Given the description of an element on the screen output the (x, y) to click on. 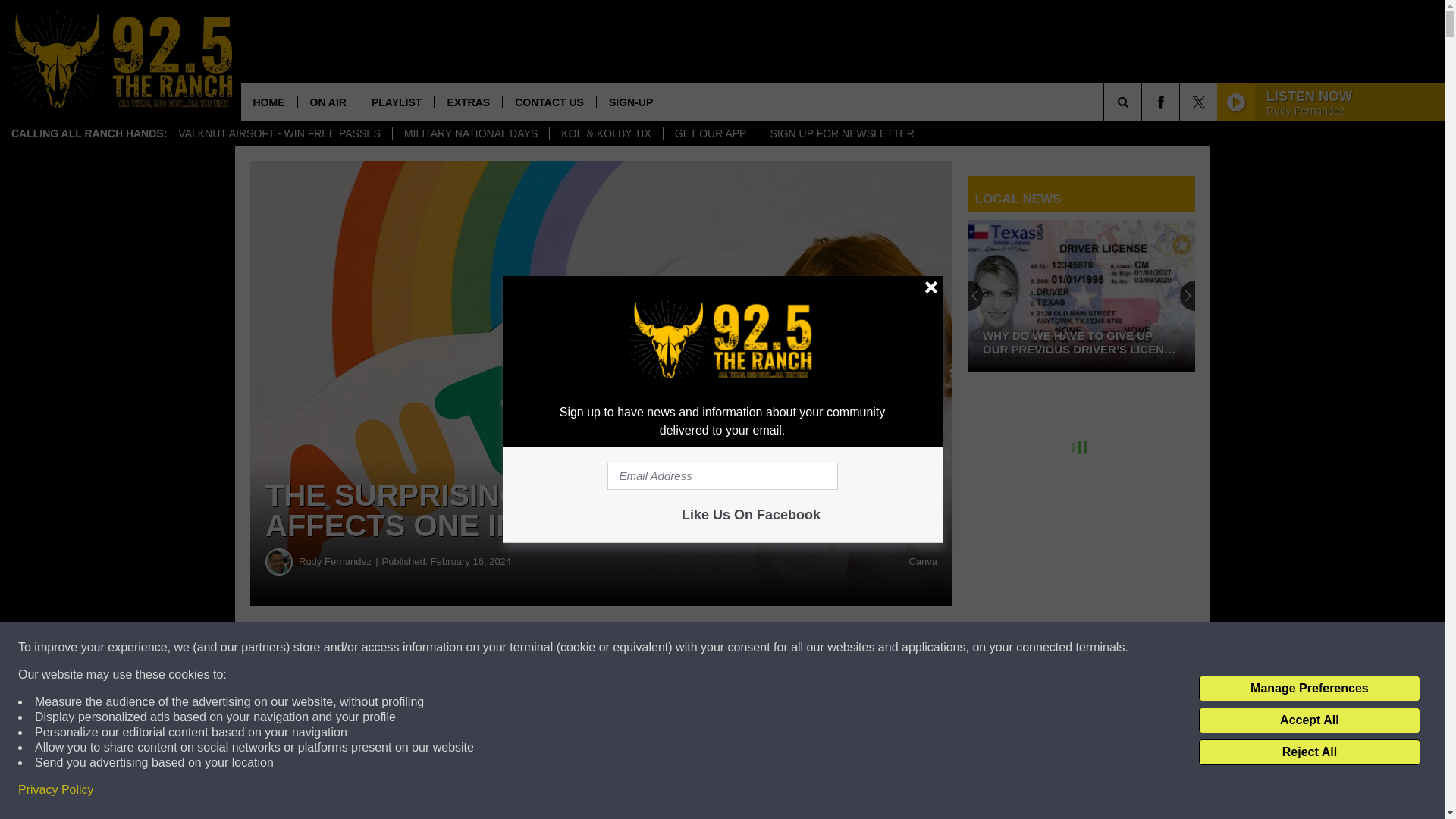
SEARCH (1144, 102)
SIGN-UP (630, 102)
CONTACT US (548, 102)
Accept All (1309, 720)
Manage Preferences (1309, 688)
SEARCH (1144, 102)
GET OUR APP (710, 133)
PLAYLIST (395, 102)
ON AIR (327, 102)
MILITARY NATIONAL DAYS (469, 133)
SIGN UP FOR NEWSLETTER (840, 133)
Email Address (722, 475)
VALKNUT AIRSOFT - WIN FREE PASSES (279, 133)
Share on Twitter (741, 647)
Share on Facebook (460, 647)
